Given the description of an element on the screen output the (x, y) to click on. 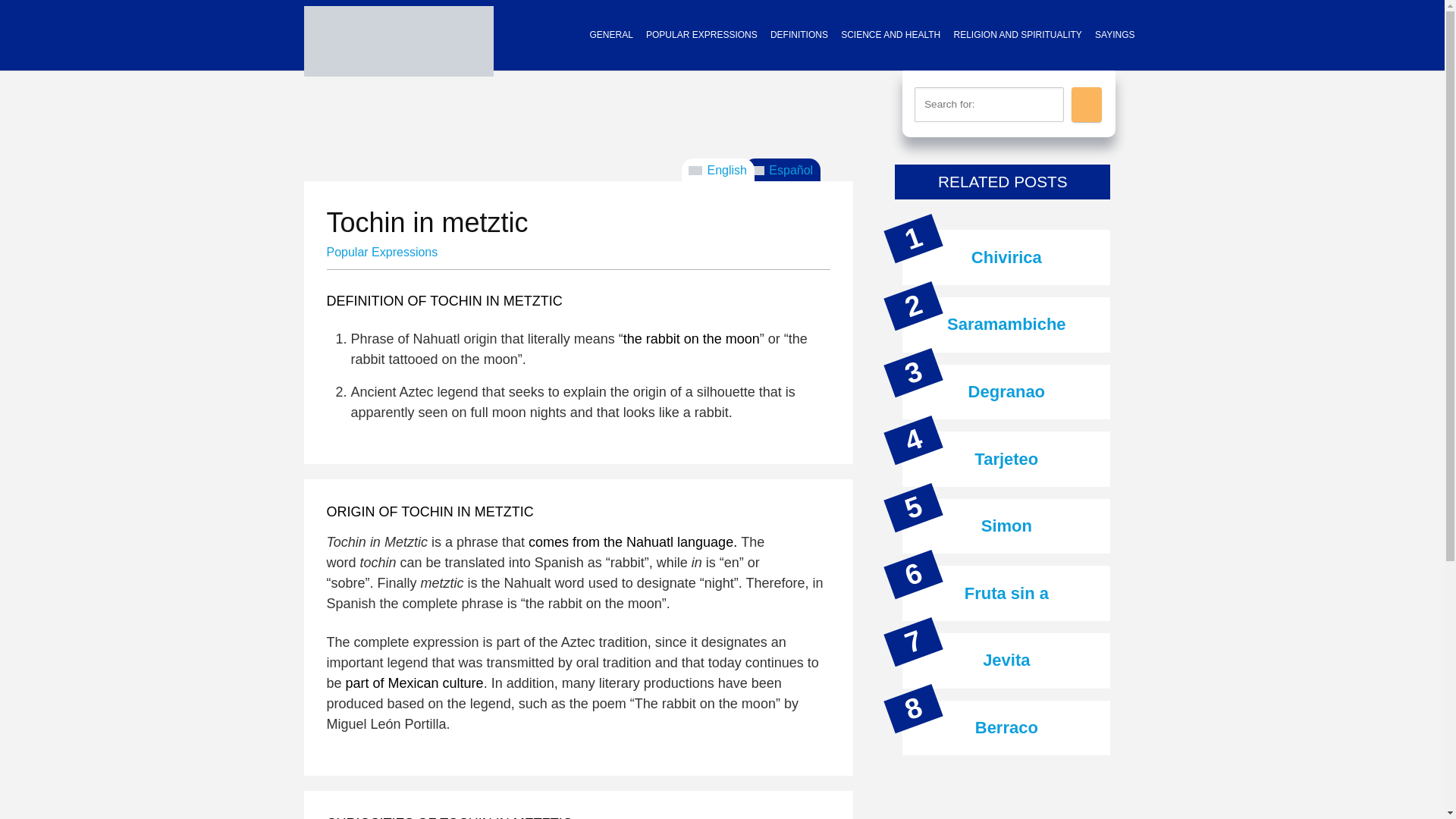
Saramambiche (1006, 323)
SCIENCE AND HEALTH (890, 35)
Simon (1006, 525)
Jevita (1005, 659)
GENERAL (610, 35)
Fruta sin a (1005, 592)
Chivirica (1006, 257)
Tarjeteo (1006, 458)
Berraco (1006, 727)
Degranao (1006, 391)
Search for: (989, 104)
DEFINITIONS (798, 35)
SAYINGS (1114, 35)
English (717, 169)
Popular Expressions (382, 251)
